Given the description of an element on the screen output the (x, y) to click on. 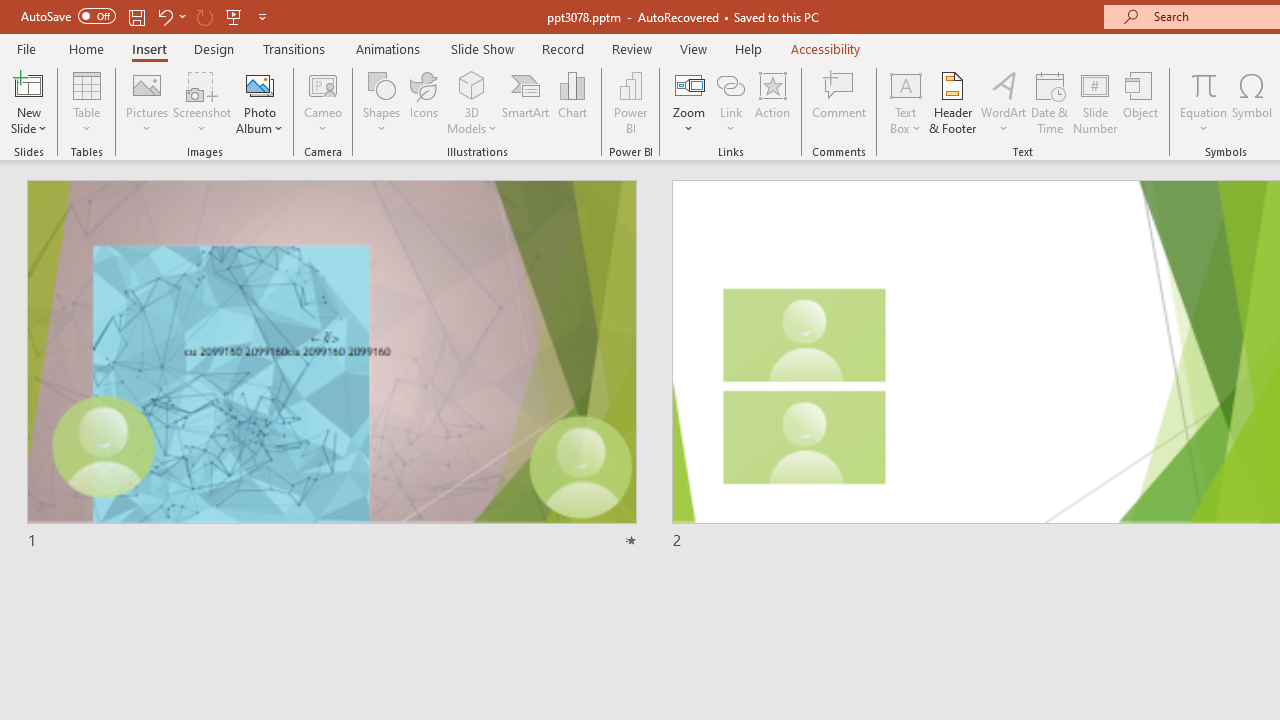
Chart... (572, 102)
New Photo Album... (259, 84)
SmartArt... (525, 102)
Shapes (381, 102)
Equation (1203, 102)
Cameo (323, 84)
3D Models (472, 84)
